Given the description of an element on the screen output the (x, y) to click on. 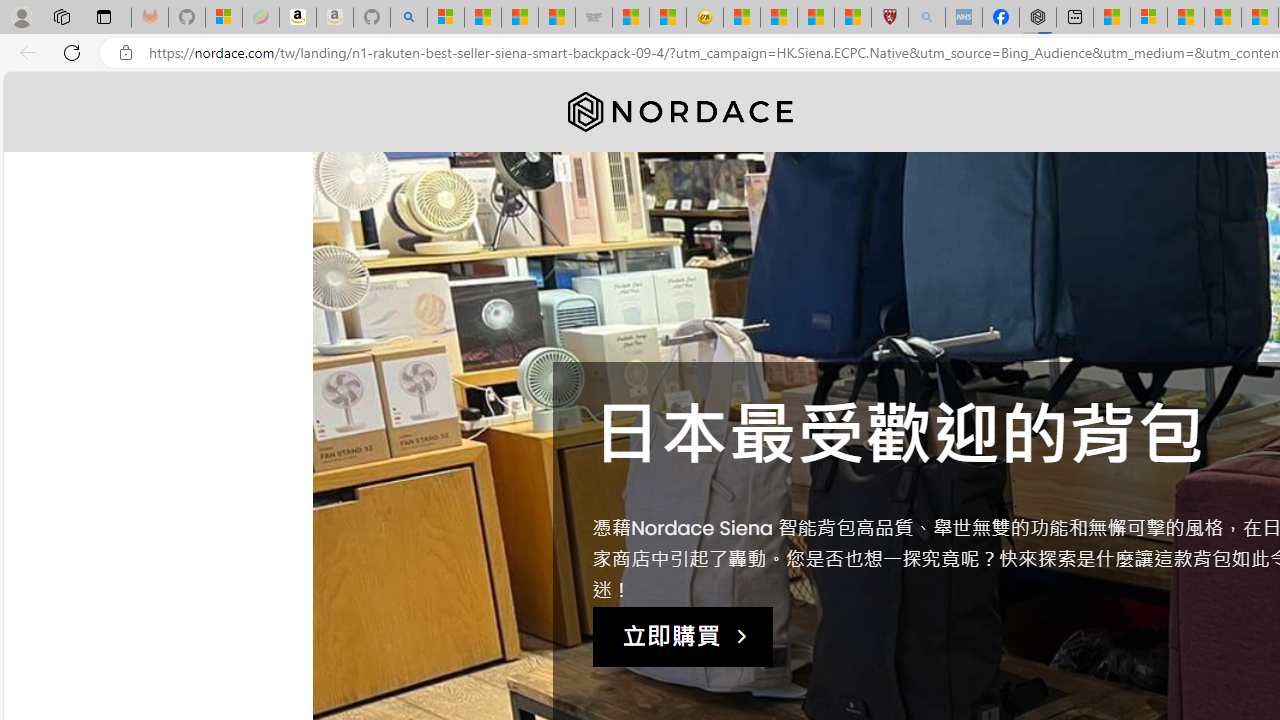
Combat Siege (593, 17)
Microsoft-Report a Concern to Bing (223, 17)
Science - MSN (815, 17)
Workspaces (61, 16)
Microsoft account | Privacy (1149, 17)
Back (24, 52)
Nordace (680, 111)
Tab actions menu (104, 16)
